Given the description of an element on the screen output the (x, y) to click on. 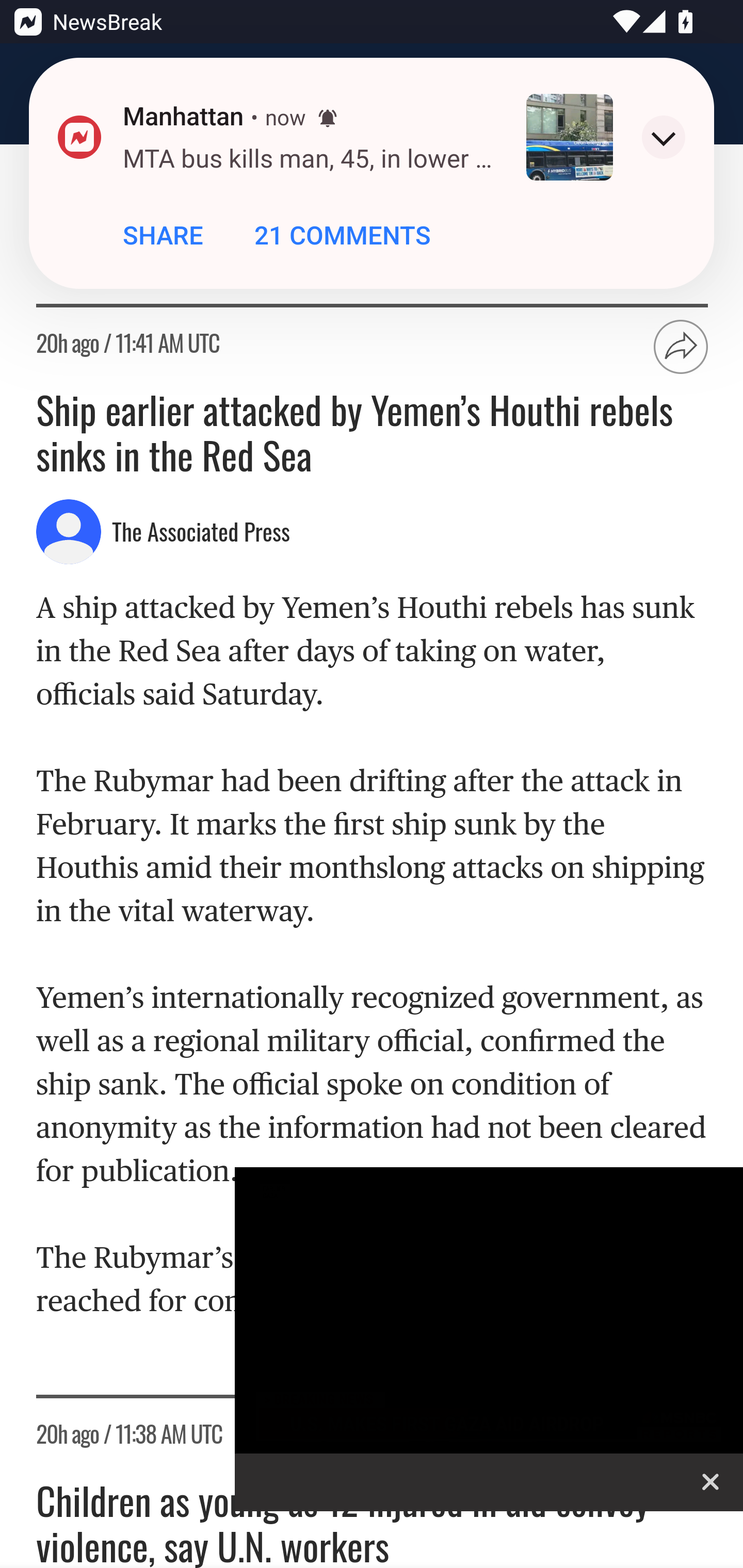
open social share icon list (681, 347)
